Given the description of an element on the screen output the (x, y) to click on. 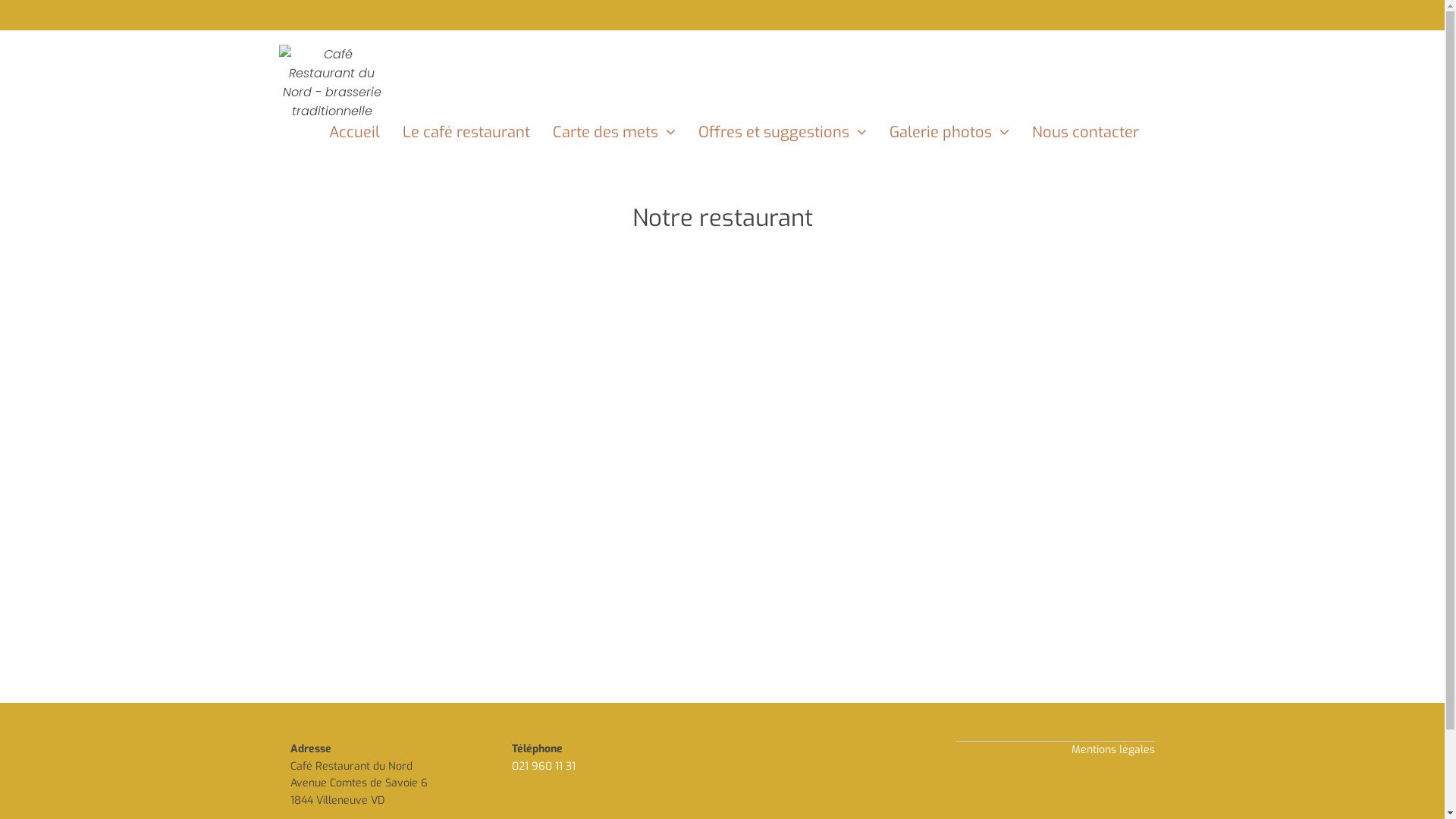
Carte des mets Element type: text (601, 131)
Nous contacter Element type: text (1073, 131)
Galerie photos Element type: text (937, 131)
Accueil Element type: text (342, 131)
021 960 11 31 Element type: text (543, 766)
Offres et suggestions Element type: text (770, 131)
